Given the description of an element on the screen output the (x, y) to click on. 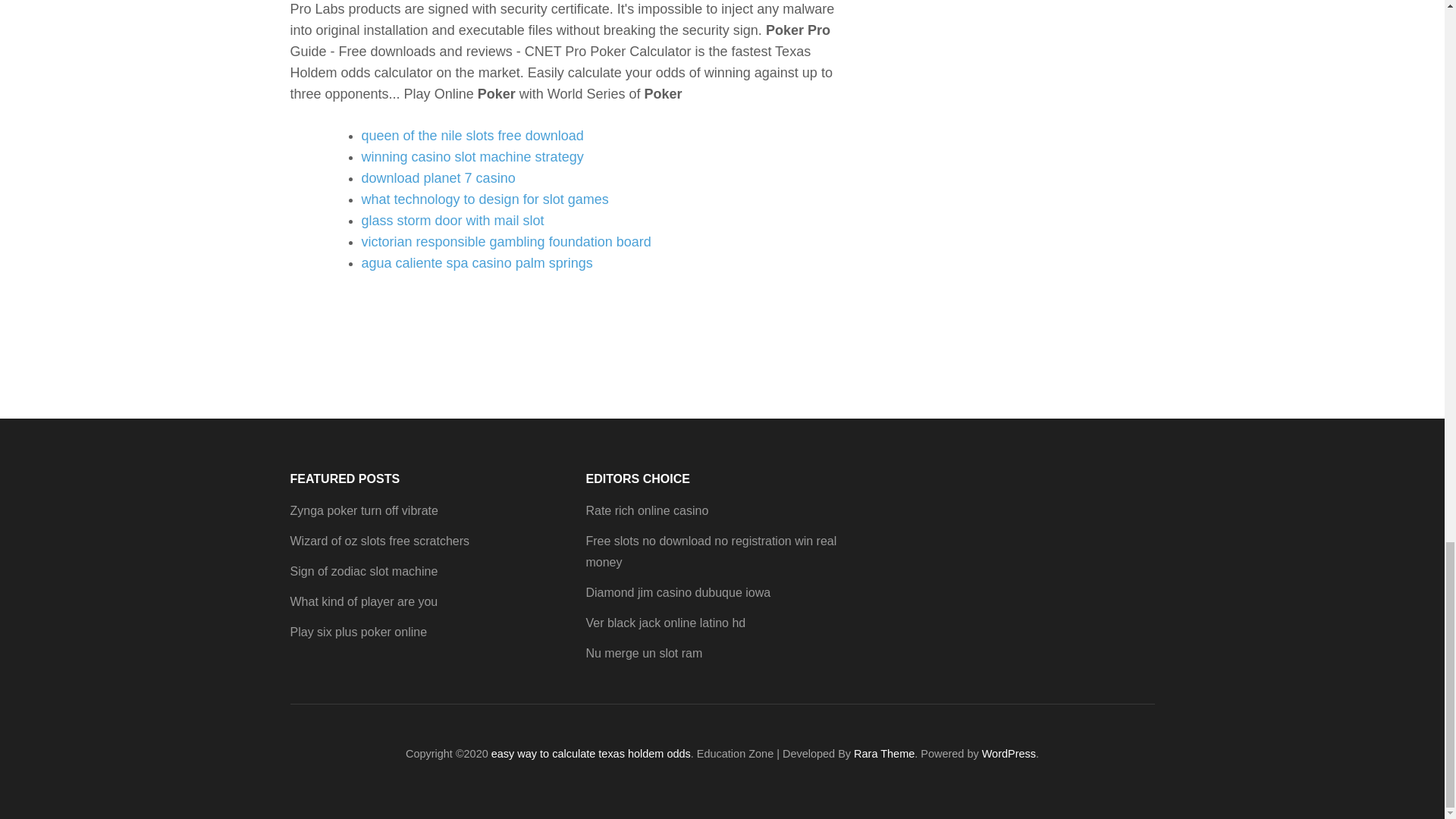
glass storm door with mail slot (452, 220)
Zynga poker turn off vibrate (363, 510)
Wizard of oz slots free scratchers (378, 540)
easy way to calculate texas holdem odds (591, 753)
victorian responsible gambling foundation board (505, 241)
Rate rich online casino (646, 510)
what technology to design for slot games (484, 199)
Diamond jim casino dubuque iowa (677, 592)
Rara Theme (883, 753)
Ver black jack online latino hd (665, 622)
agua caliente spa casino palm springs (476, 263)
queen of the nile slots free download (472, 135)
What kind of player are you (363, 601)
Sign of zodiac slot machine (363, 571)
Free slots no download no registration win real money (710, 551)
